Given the description of an element on the screen output the (x, y) to click on. 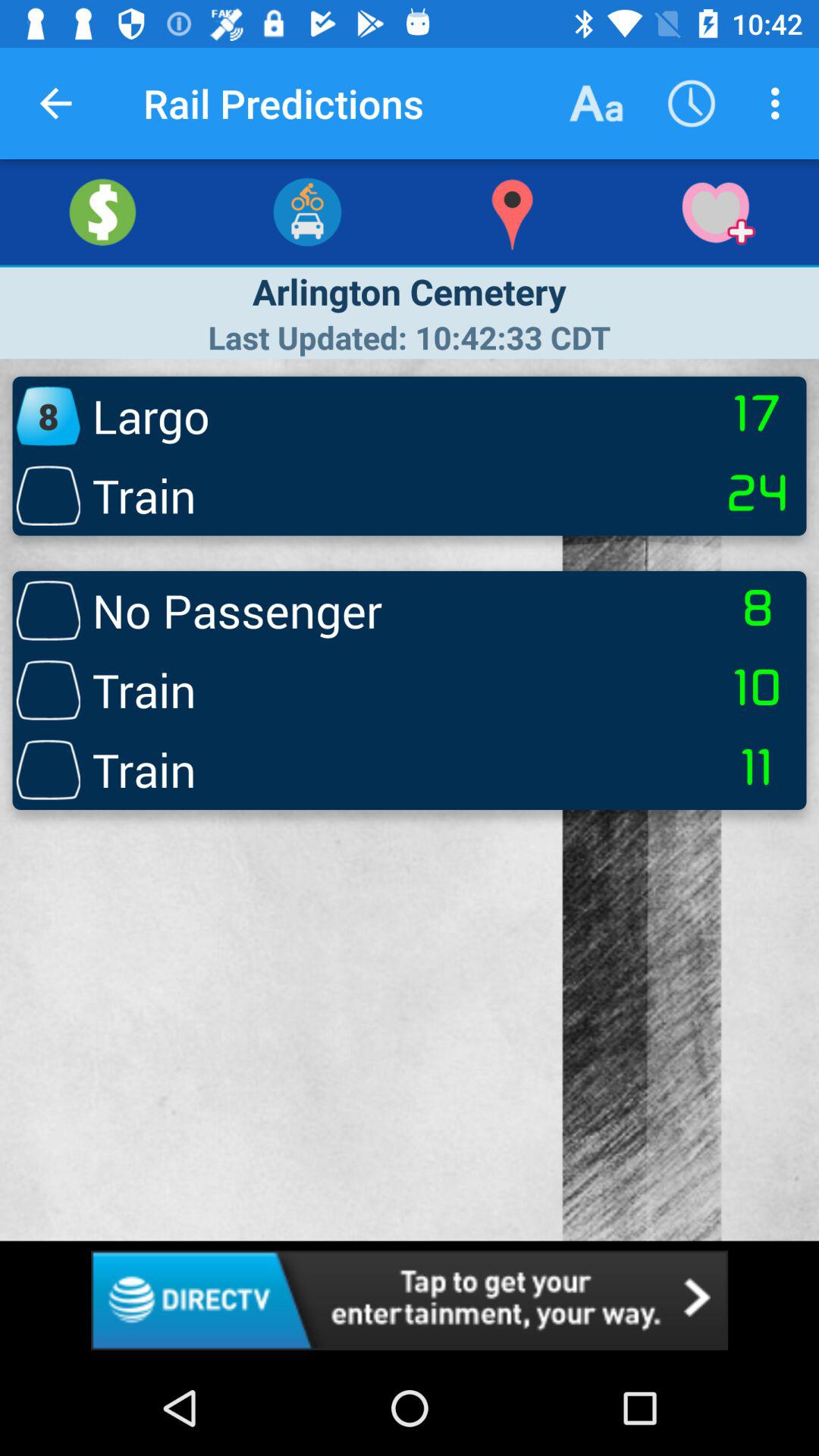
like it (716, 212)
